Given the description of an element on the screen output the (x, y) to click on. 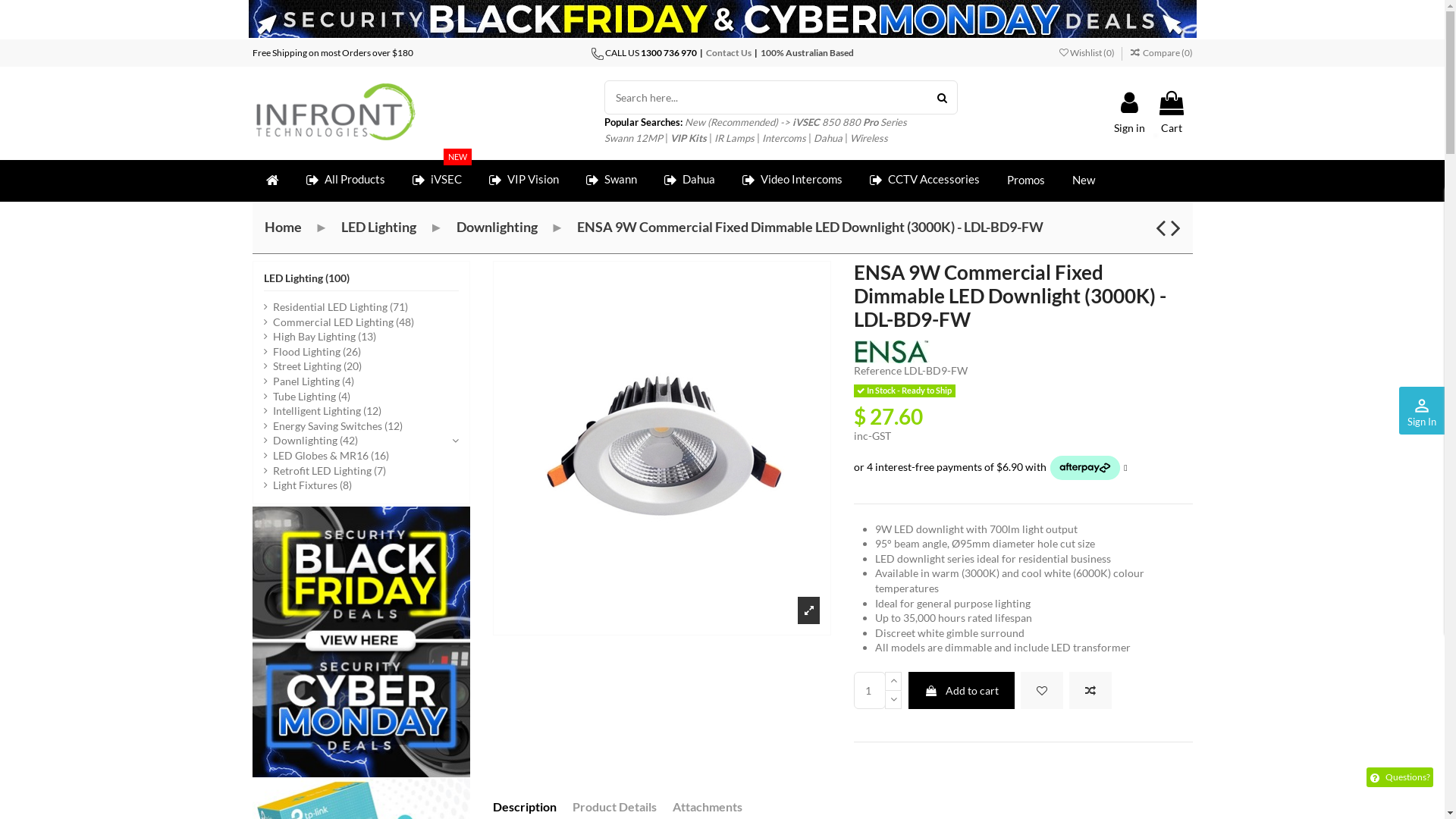
1300 736 970 Element type: text (668, 52)
  Element type: text (493, 791)
Intelligent Lighting (12) Element type: text (322, 410)
Street Lighting (20) Element type: text (312, 365)
High Bay Lighting (13) Element type: text (319, 336)
Intercoms Element type: text (784, 137)
IR Lamps Element type: text (734, 137)
Next product Element type: hover (1175, 226)
Contact Us Element type: text (727, 52)
LED Lighting Element type: text (378, 226)
Compare (0) Element type: text (1160, 52)
Commercial LED Lighting (48) Element type: text (338, 321)
VIP Vision Element type: text (522, 180)
Light Fixtures (8) Element type: text (307, 484)
Dahua Element type: text (827, 137)
Residential LED Lighting (71) Element type: text (335, 306)
Dahua Element type: text (689, 180)
CCTV Accessories Element type: text (923, 180)
LED Lighting (100) Element type: text (306, 277)
Retrofit LED Lighting (7) Element type: text (324, 470)
Panel Lighting (4) Element type: text (308, 381)
LED Globes & MR16 (16) Element type: text (326, 455)
Previous product Element type: hover (1162, 226)
Promos Element type: text (1025, 180)
New (Recommended) -> iVSEC 850 880 Pro Series Element type: text (795, 122)
SEND MY QUESTION Element type: text (466, 646)
VIP Kits Element type: text (688, 137)
Home Element type: text (282, 226)
All Products Element type: text (345, 180)
Flood Lighting (26) Element type: text (311, 351)
Energy Saving Switches (12) Element type: text (332, 425)
Tube Lighting (4) Element type: text (306, 396)
Sign in Element type: text (1129, 113)
Video Intercoms Element type: text (791, 180)
New Element type: text (1083, 180)
Swann 12MP Element type: text (633, 137)
Add to cart Element type: text (961, 690)
Downlighting (42) Element type: text (310, 440)
Downlighting Element type: text (496, 226)
Wishlist (0) Element type: text (1087, 52)
Wireless Element type: text (869, 137)
Swann Element type: text (610, 180)
Cart Element type: text (1170, 113)
iVSEC
NEW Element type: text (436, 180)
